Given the description of an element on the screen output the (x, y) to click on. 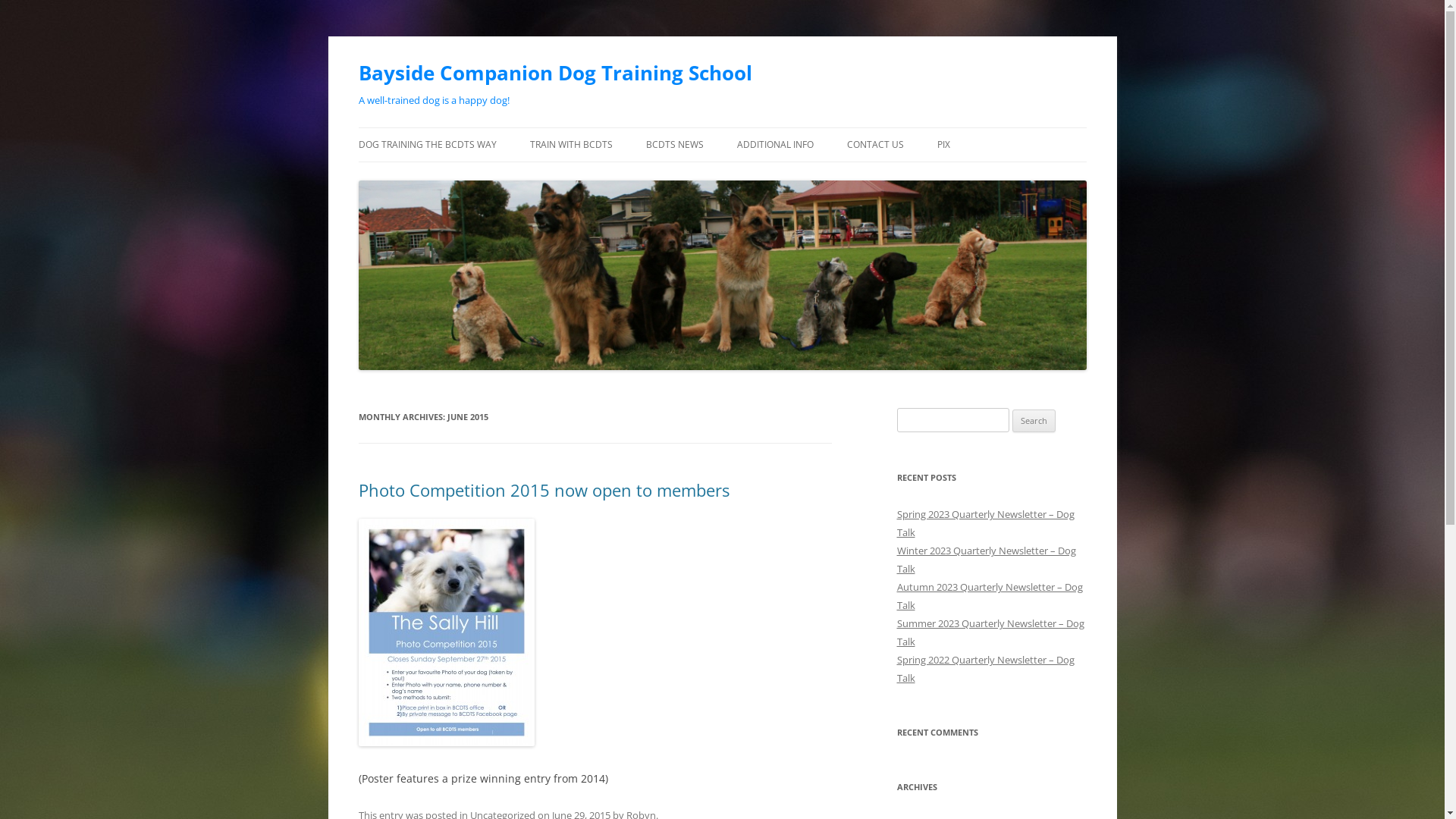
Bayside Companion Dog Training School Element type: text (554, 72)
Photo Competition 2015 now open to members Element type: text (542, 489)
TRAIN WITH BCDTS Element type: text (570, 144)
Skip to content Element type: text (721, 127)
BCDTS NEWS Element type: text (674, 144)
WHERE, WHEN Element type: text (604, 176)
KEY DATES Element type: text (812, 176)
CONTACT US Element type: text (874, 144)
BCDTS PHILOSOPHY Element type: text (433, 176)
Search Element type: text (1033, 420)
DOG TRAINING THE BCDTS WAY Element type: text (426, 144)
ADDITIONAL INFO Element type: text (775, 144)
PIX Element type: text (943, 144)
